Given the description of an element on the screen output the (x, y) to click on. 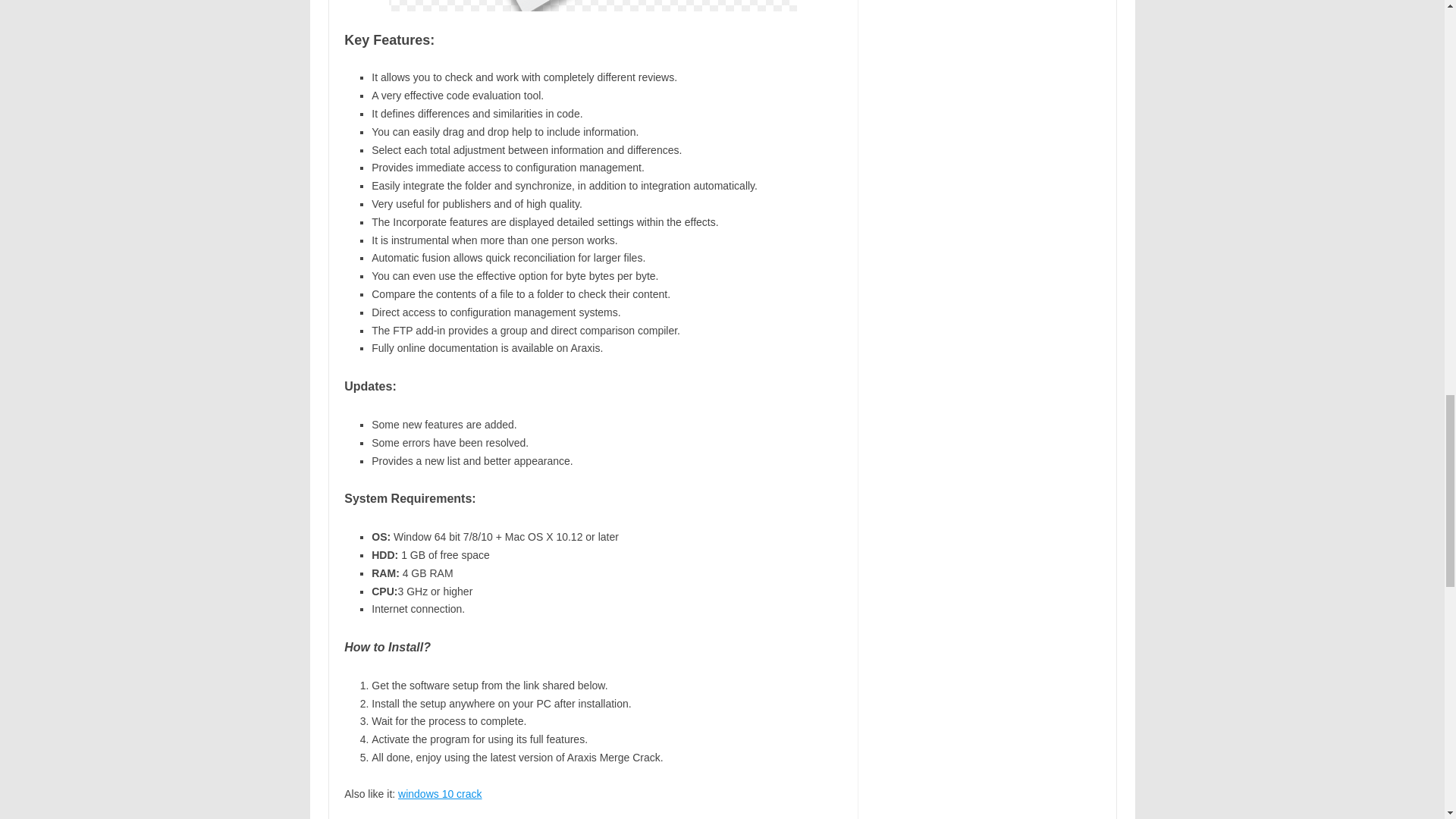
windows 10 crack (439, 793)
